Given the description of an element on the screen output the (x, y) to click on. 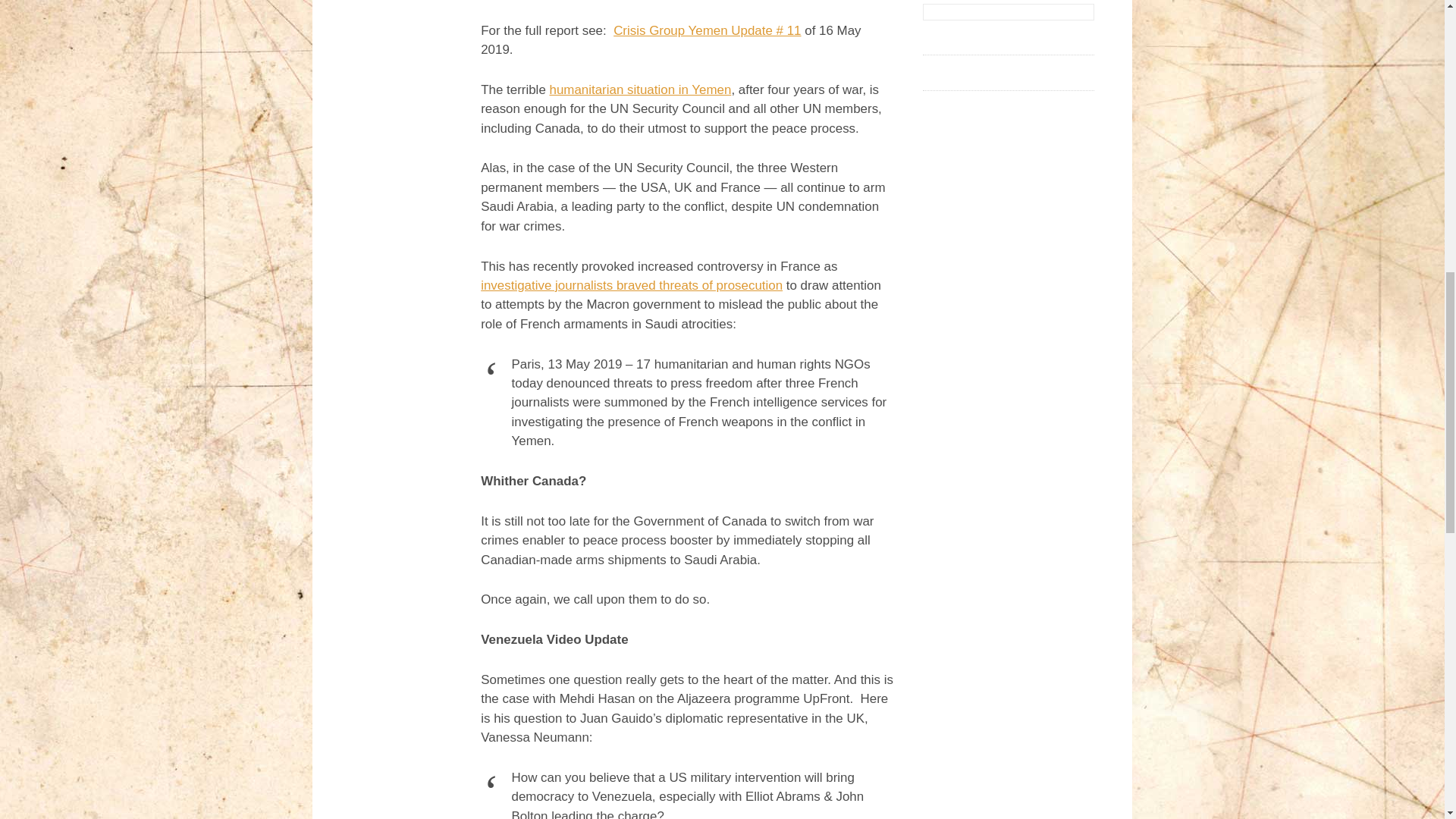
investigative journalists braved threats of prosecution (631, 285)
humanitarian situation in Yemen (639, 89)
